Given the description of an element on the screen output the (x, y) to click on. 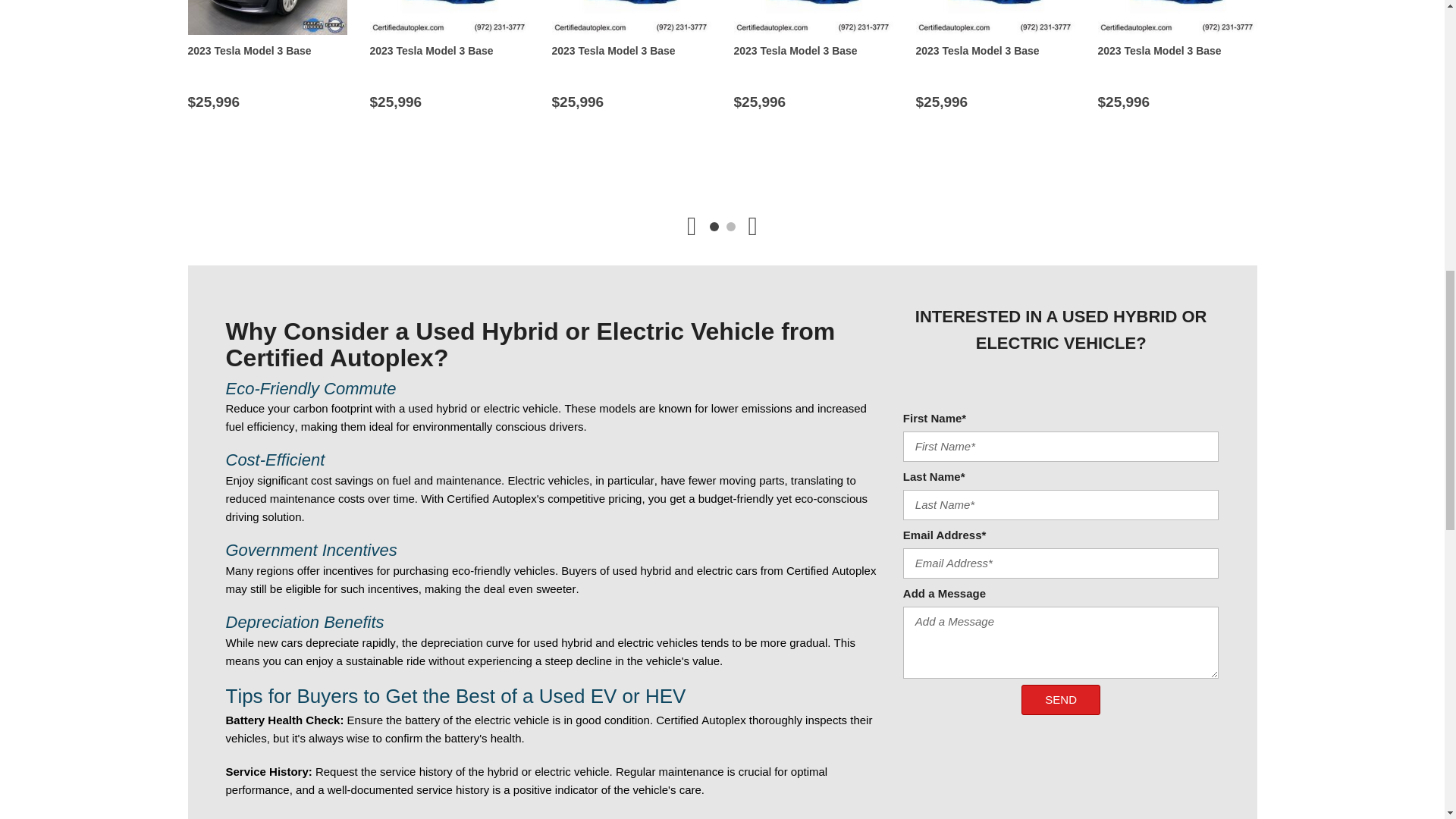
2023 Tesla Model 3 Base (631, 17)
2023 Tesla Model 3 Base (995, 17)
2023 Tesla Model 3 Base (267, 17)
2023 Tesla Model 3 Base (449, 17)
2023 Tesla Model 3 Base (813, 17)
2023 Tesla Model 3 Base (1177, 17)
